Given the description of an element on the screen output the (x, y) to click on. 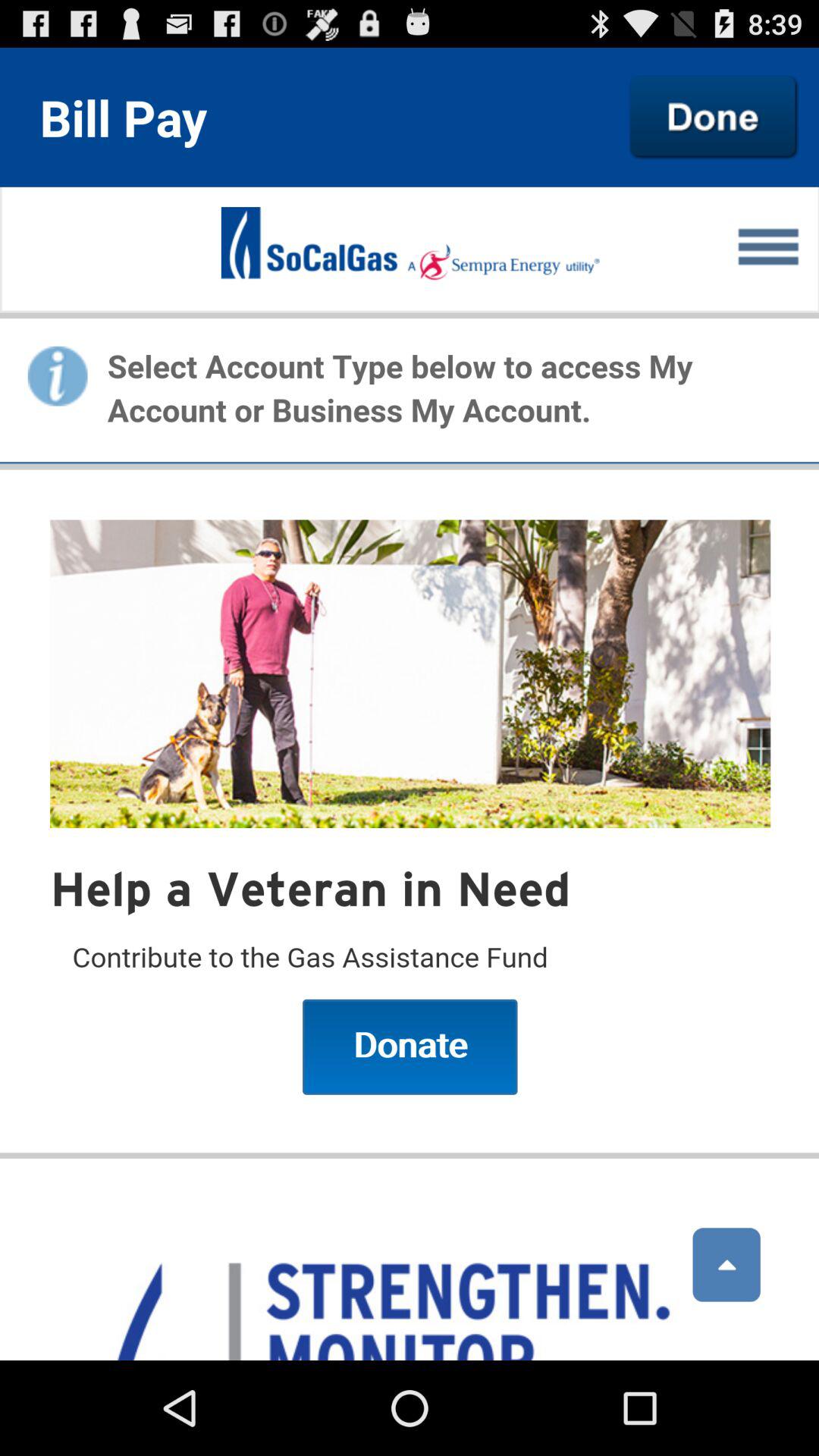
done (714, 117)
